Given the description of an element on the screen output the (x, y) to click on. 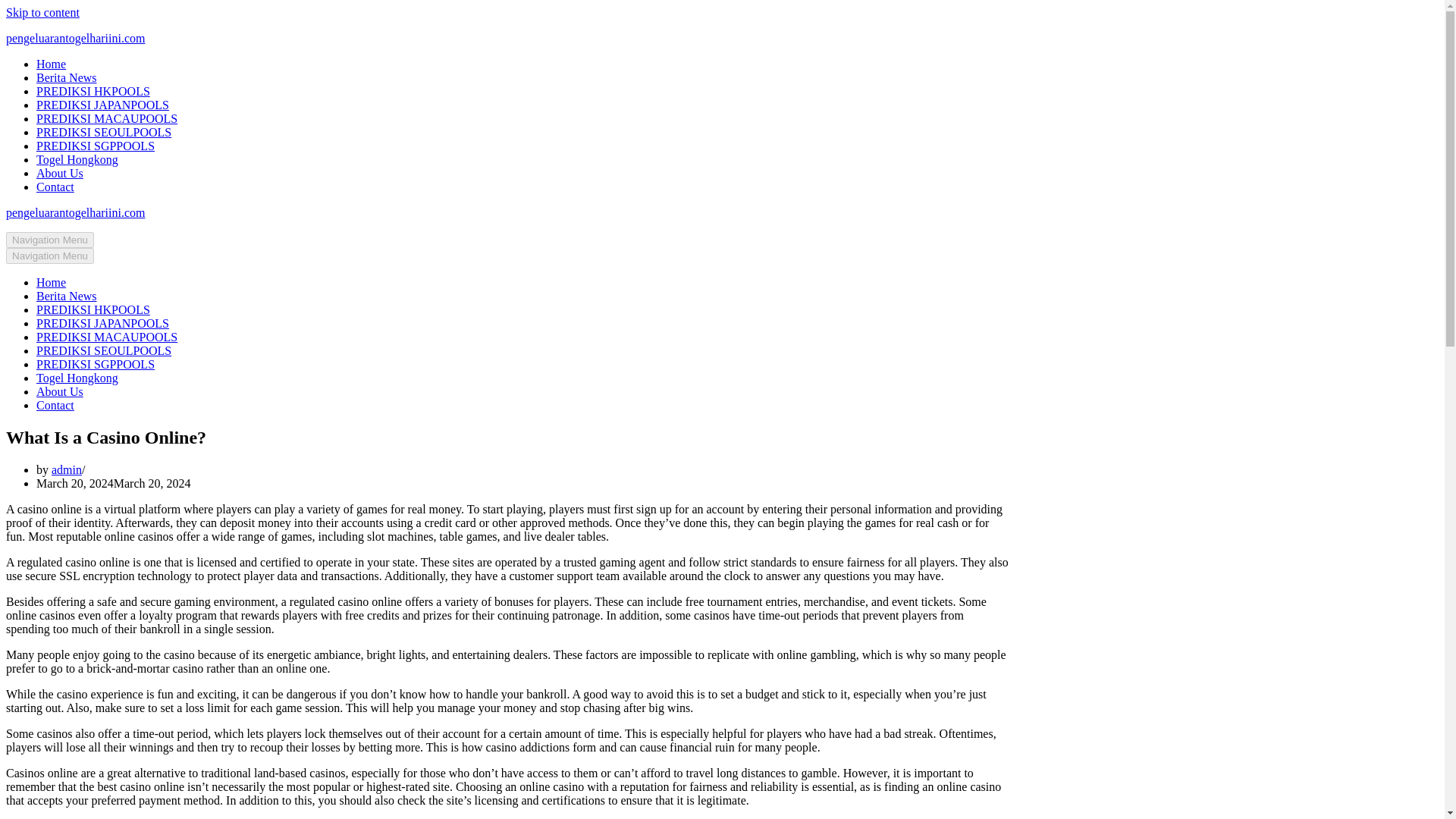
Contact (55, 404)
PREDIKSI JAPANPOOLS (102, 104)
Skip to content (42, 11)
PREDIKSI SGPPOOLS (95, 145)
Berita News (66, 295)
PREDIKSI SEOULPOOLS (103, 350)
Home (50, 282)
About Us (59, 391)
About Us (59, 173)
Posts by admin (65, 469)
